Given the description of an element on the screen output the (x, y) to click on. 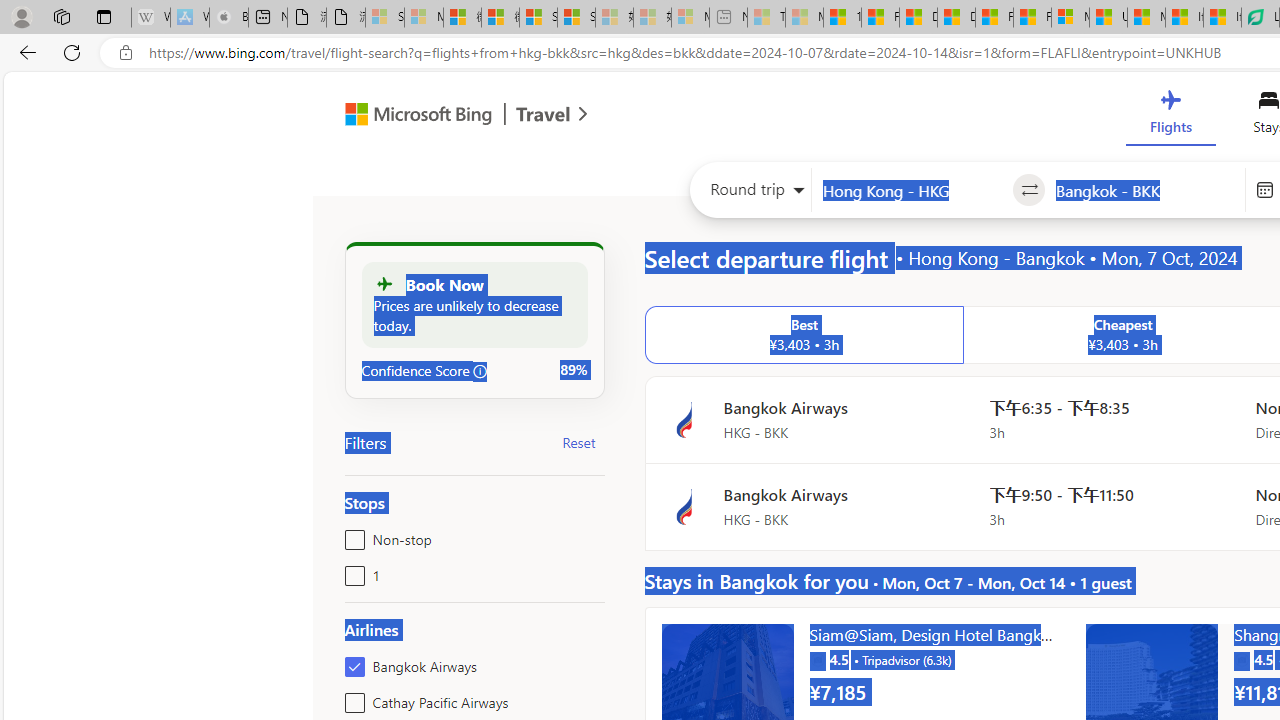
Swap source and destination (1028, 189)
Buy iPad - Apple - Sleeping (228, 17)
US Heat Deaths Soared To Record High Last Year (1108, 17)
Drinking tea every day is proven to delay biological aging (956, 17)
Foo BAR | Trusted Community Engagement and Contributions (1031, 17)
Top Stories - MSN - Sleeping (765, 17)
Class: msft-bing-logo msft-bing-logo-desktop (413, 114)
Class: msft-travel-logo (543, 114)
Flight logo (684, 507)
